Given the description of an element on the screen output the (x, y) to click on. 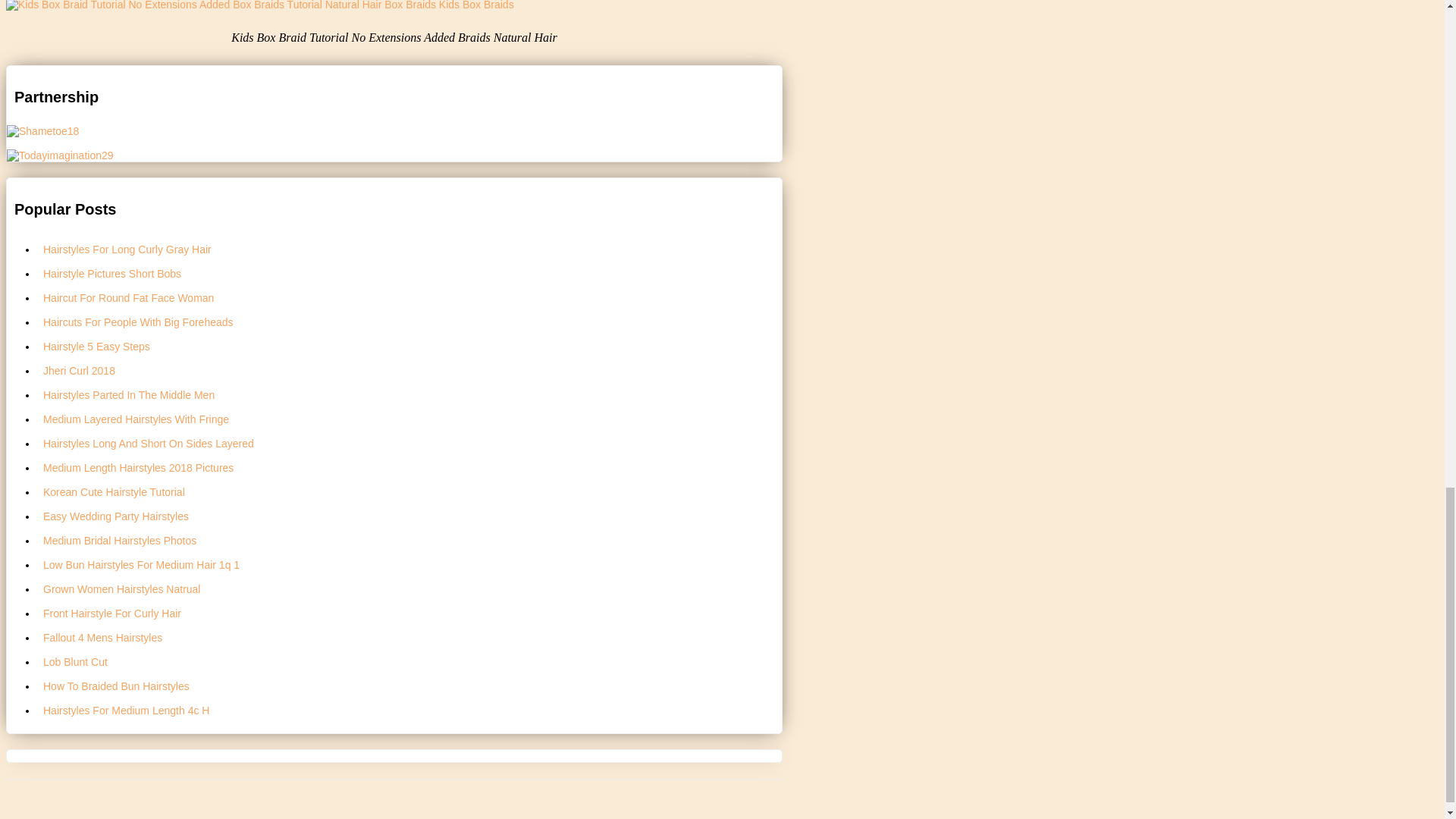
Easy Wedding Party Hairstyles (409, 515)
Hairstyle Pictures Short Bobs (409, 273)
Jheri Curl 2018 (409, 369)
Medium Length Hairstyles 2018 Pictures (409, 467)
Hairstyle 5 Easy Steps (409, 345)
Haircuts For People With Big Foreheads (409, 321)
Korean Cute Hairstyle Tutorial (409, 491)
Hairstyles Parted In The Middle Men (409, 394)
Low Bun Hairstyles For Medium Hair 1q 1 (409, 564)
Hairstyles For Long Curly Gray Hair (409, 248)
Haircut For Round Fat Face Woman (409, 297)
Medium Bridal Hairstyles Photos (409, 539)
Hairstyles Long And Short On Sides Layered (409, 442)
Todayimagination29 (60, 154)
Medium Layered Hairstyles With Fringe (409, 418)
